Given the description of an element on the screen output the (x, y) to click on. 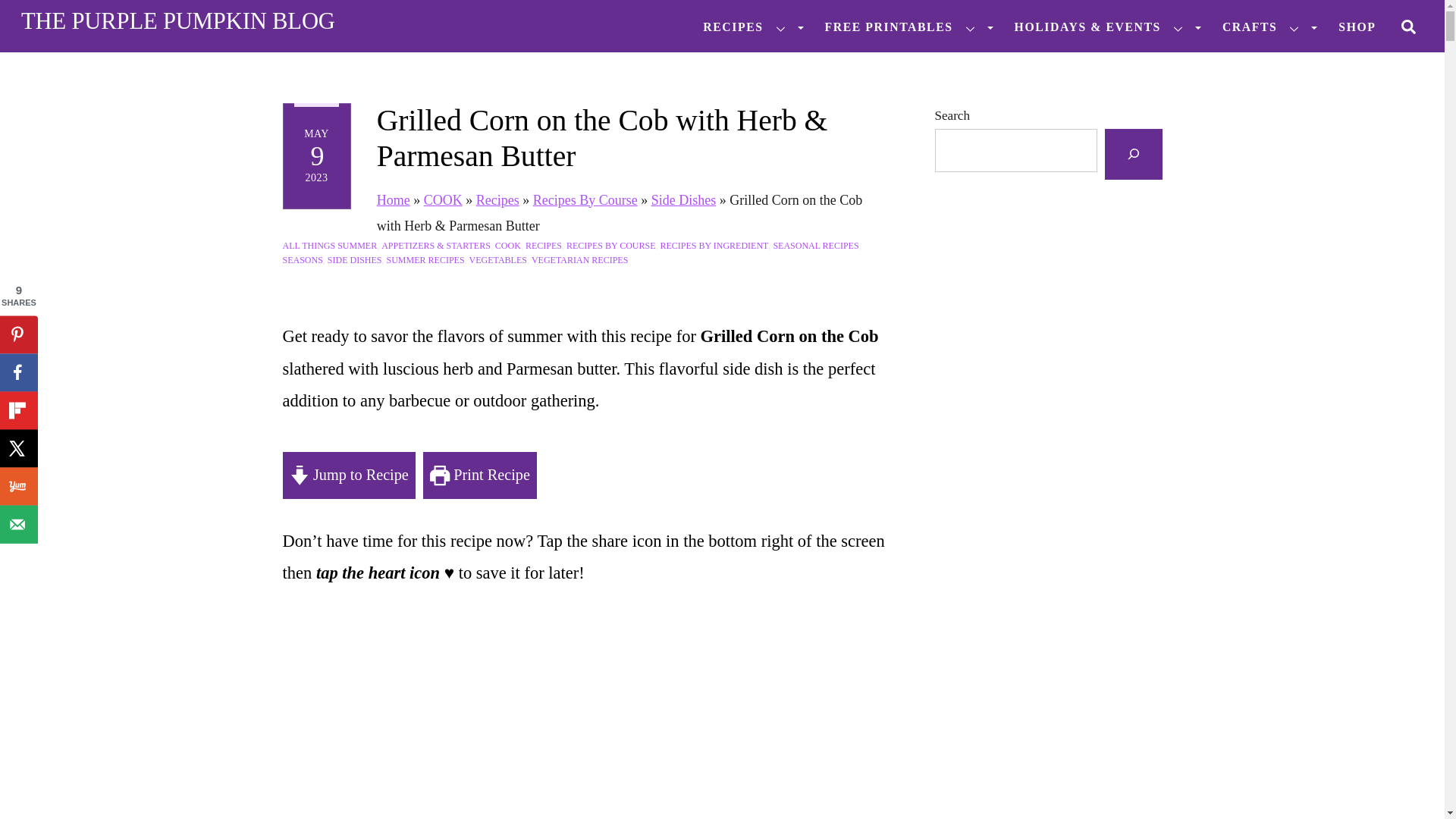
THE PURPLE PUMPKIN BLOG (177, 21)
Search (1408, 24)
The Purple Pumpkin Blog (177, 21)
RECIPES (746, 27)
